Given the description of an element on the screen output the (x, y) to click on. 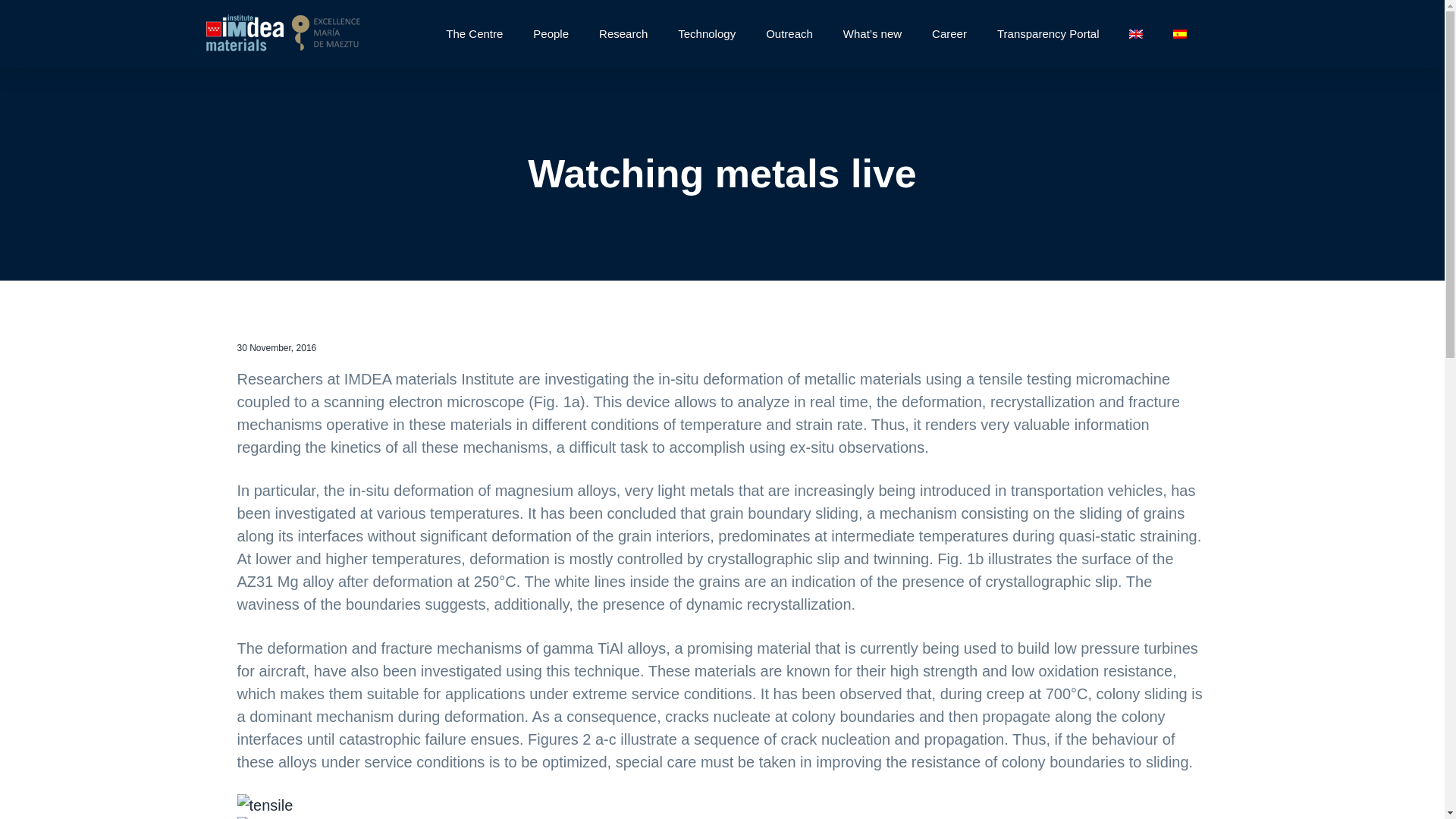
People (550, 33)
The Centre (474, 33)
Research (622, 33)
Outreach (789, 33)
Technology (706, 33)
